Given the description of an element on the screen output the (x, y) to click on. 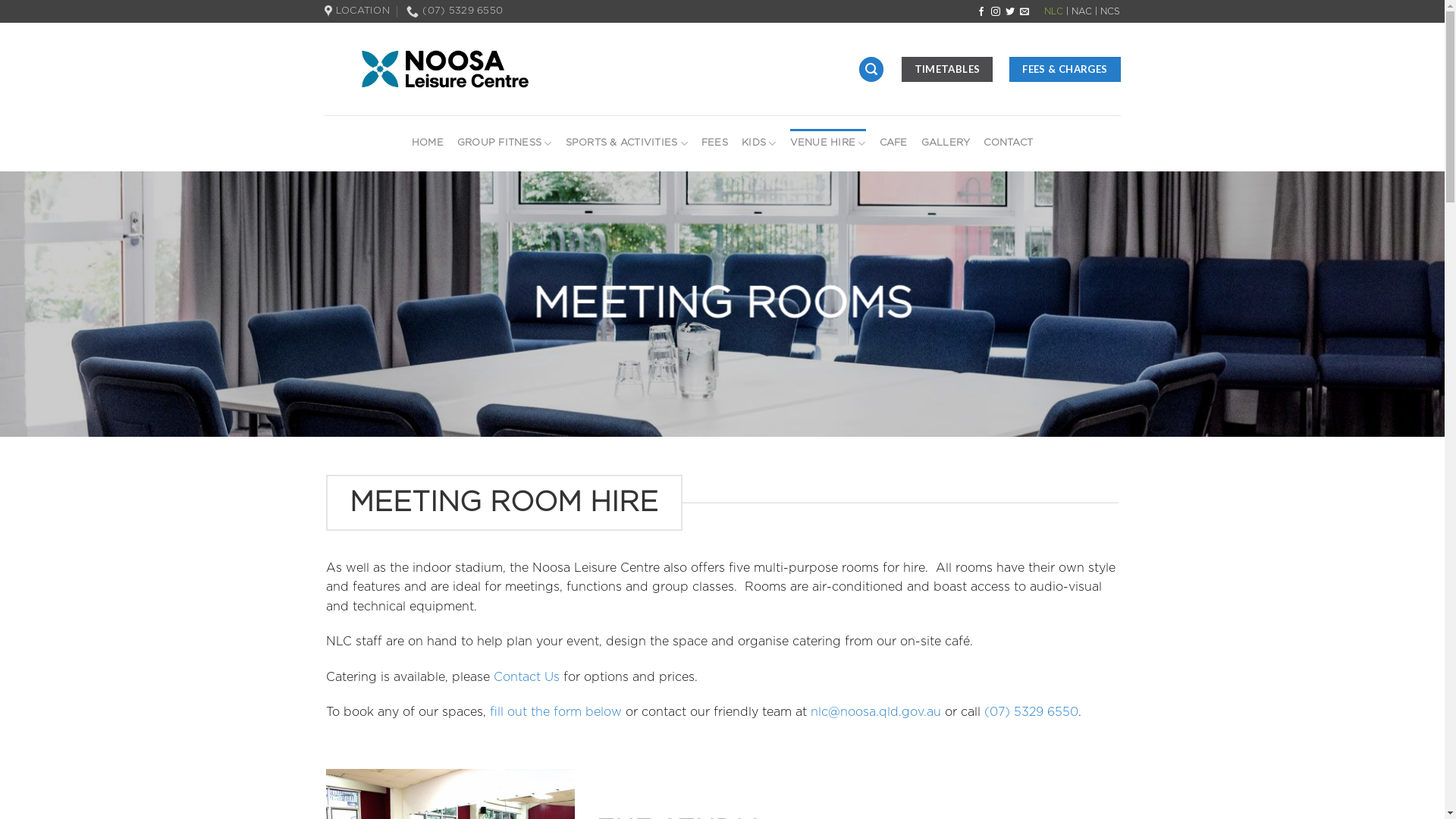
NLC Element type: text (1053, 10)
VENUE HIRE Element type: text (828, 143)
GALLERY Element type: text (945, 142)
Noosa Leisure Centre Element type: hover (470, 68)
LOCATION Element type: text (356, 11)
TIMETABLES Element type: text (947, 69)
KIDS Element type: text (758, 143)
CAFE Element type: text (893, 142)
HOME Element type: text (427, 142)
Send us an email Element type: hover (1024, 11)
SPORTS & ACTIVITIES Element type: text (626, 143)
FEES & CHARGES Element type: text (1064, 69)
Follow on Twitter Element type: hover (1009, 11)
NAC Element type: text (1081, 10)
GROUP FITNESS Element type: text (504, 143)
fill out the form below Element type: text (555, 712)
Contact Us Element type: text (526, 677)
(07) 5329 6550 Element type: text (1031, 712)
(07) 5329 6550 Element type: text (454, 11)
FEES Element type: text (714, 142)
nlc@noosa.qld.gov.au Element type: text (875, 712)
CONTACT Element type: text (1007, 142)
NCS Element type: text (1110, 10)
Follow on Facebook Element type: hover (980, 11)
Follow on Instagram Element type: hover (995, 11)
